Given the description of an element on the screen output the (x, y) to click on. 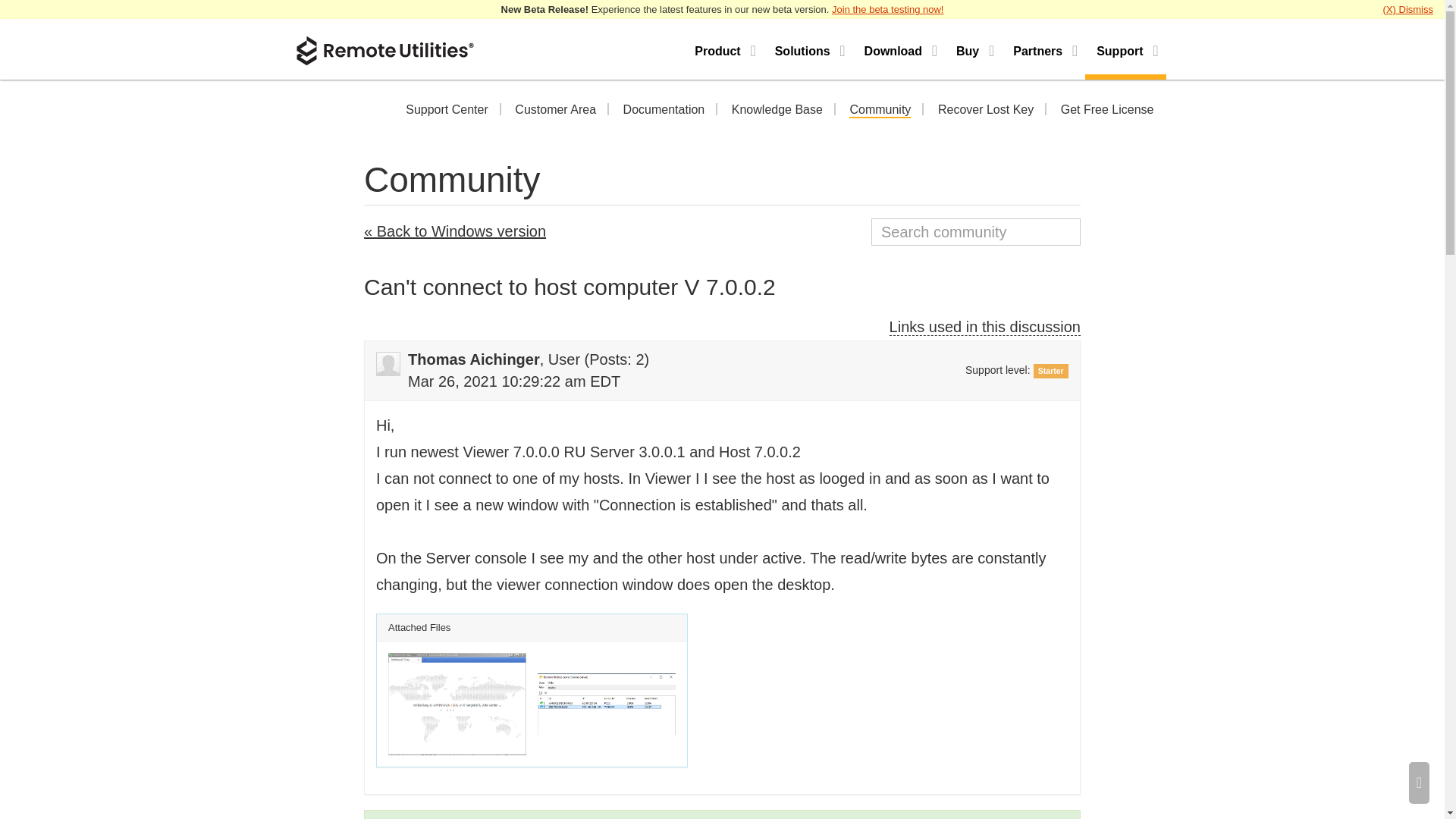
Solutions (807, 48)
Support Center (446, 110)
Buy (972, 48)
Product (722, 48)
Support (1125, 48)
Download (898, 48)
Join the beta testing now! (887, 9)
Partners (1042, 48)
